Given the description of an element on the screen output the (x, y) to click on. 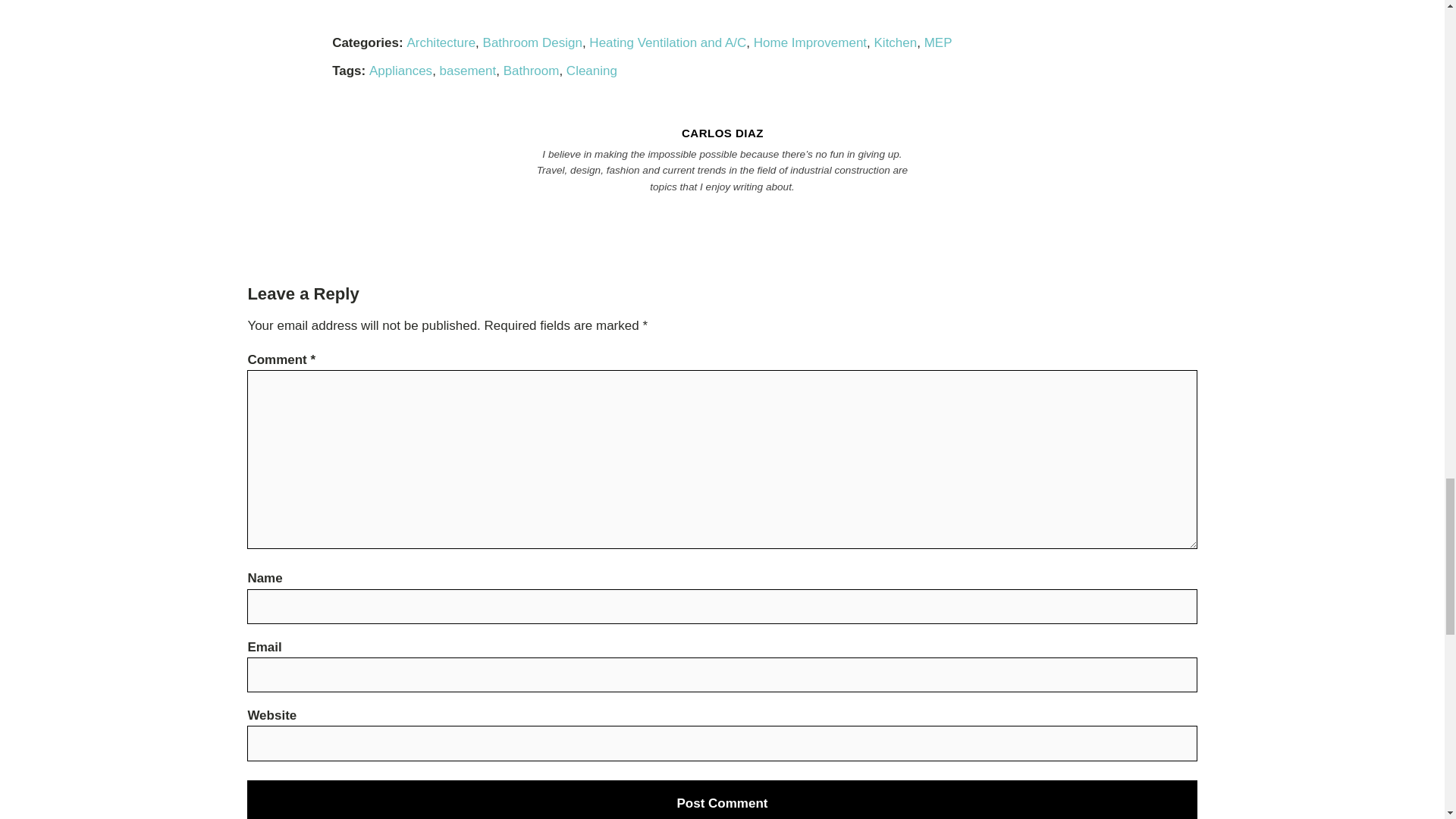
Post Comment (721, 799)
